Given the description of an element on the screen output the (x, y) to click on. 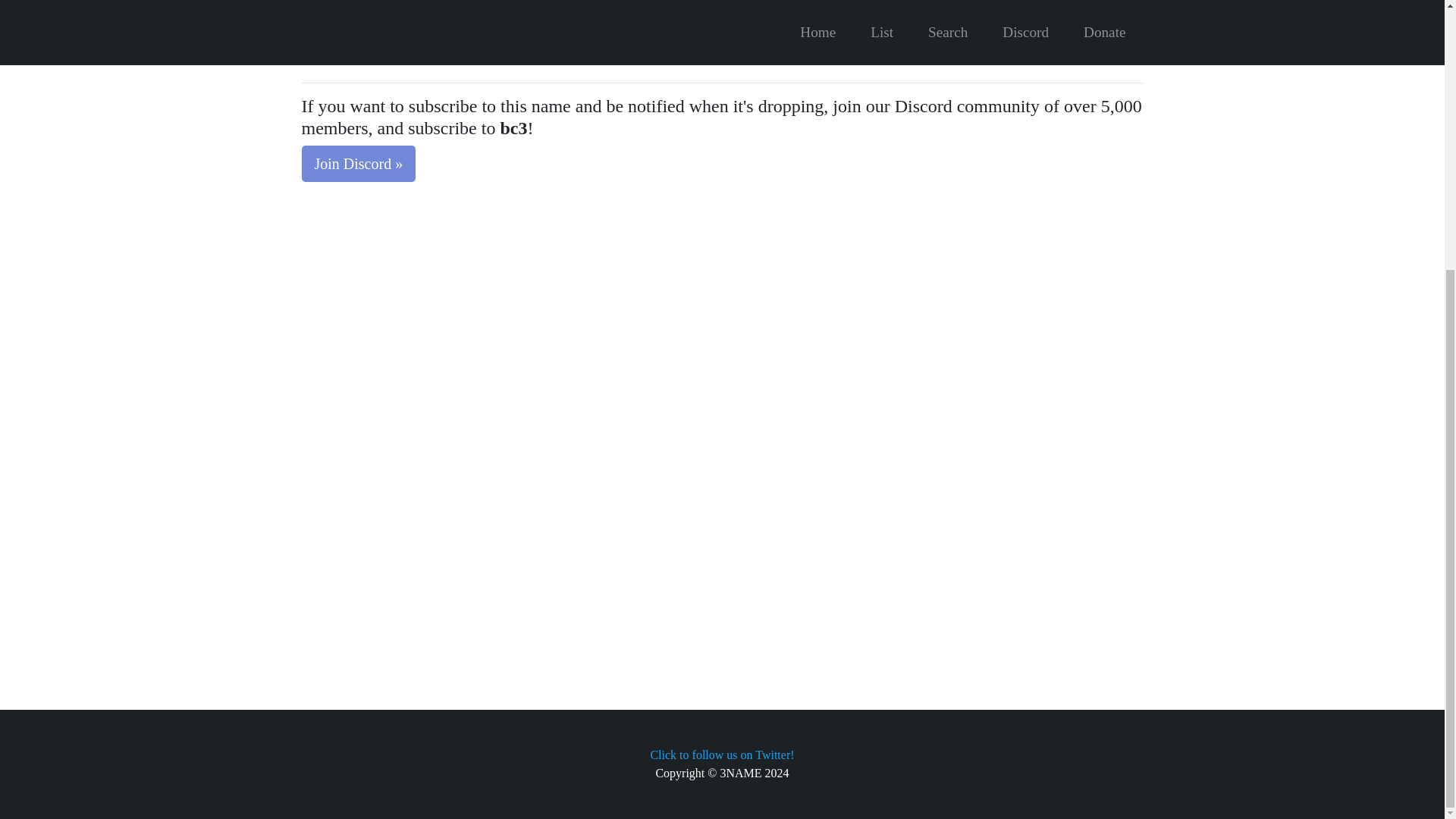
Click to follow us on Twitter! (721, 754)
